Given the description of an element on the screen output the (x, y) to click on. 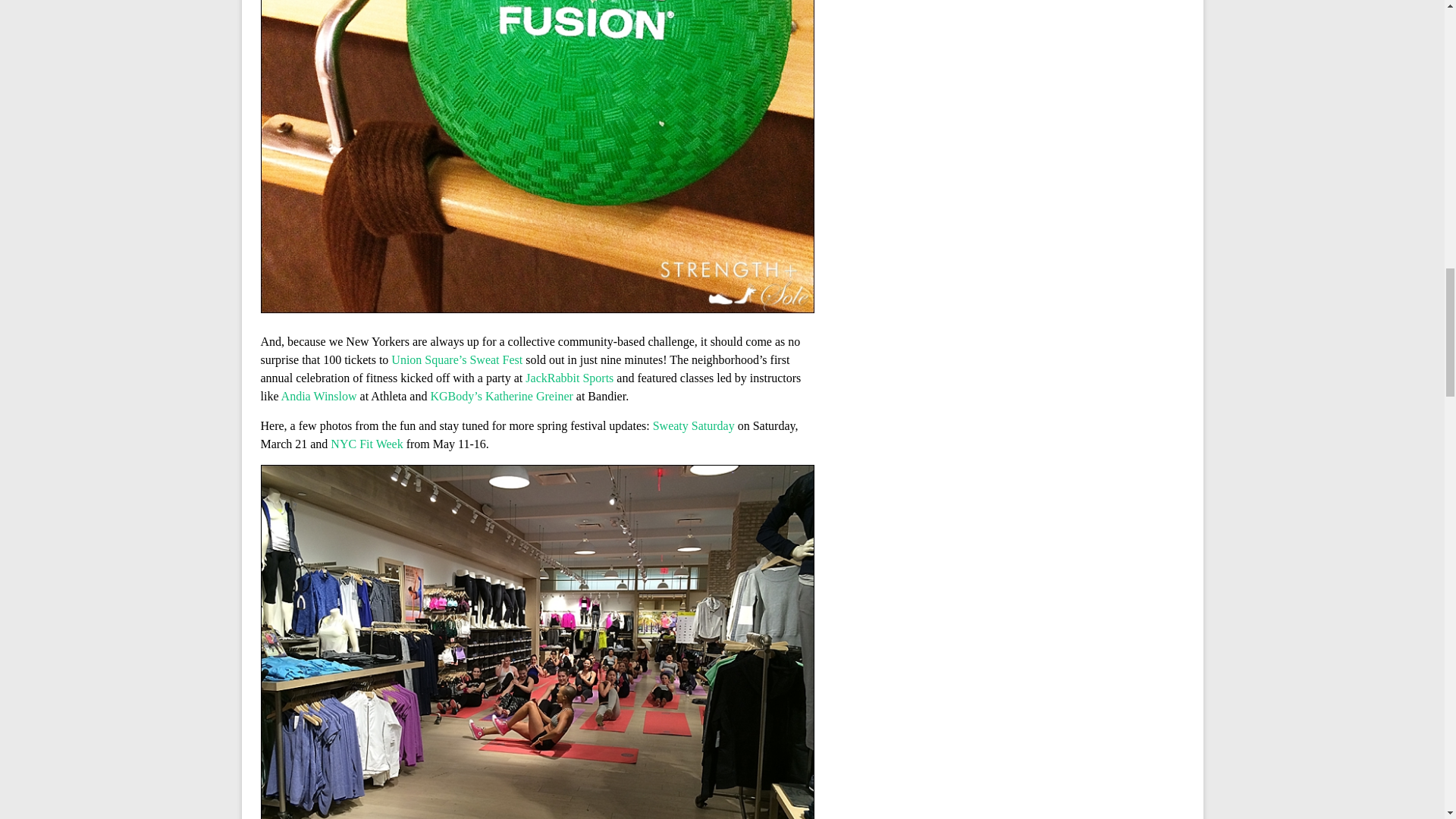
JackRabbit Sports (568, 377)
Union Square Sweat Fest (456, 359)
Andia Winslow (318, 395)
JackRabbit Sports (568, 377)
